Given the description of an element on the screen output the (x, y) to click on. 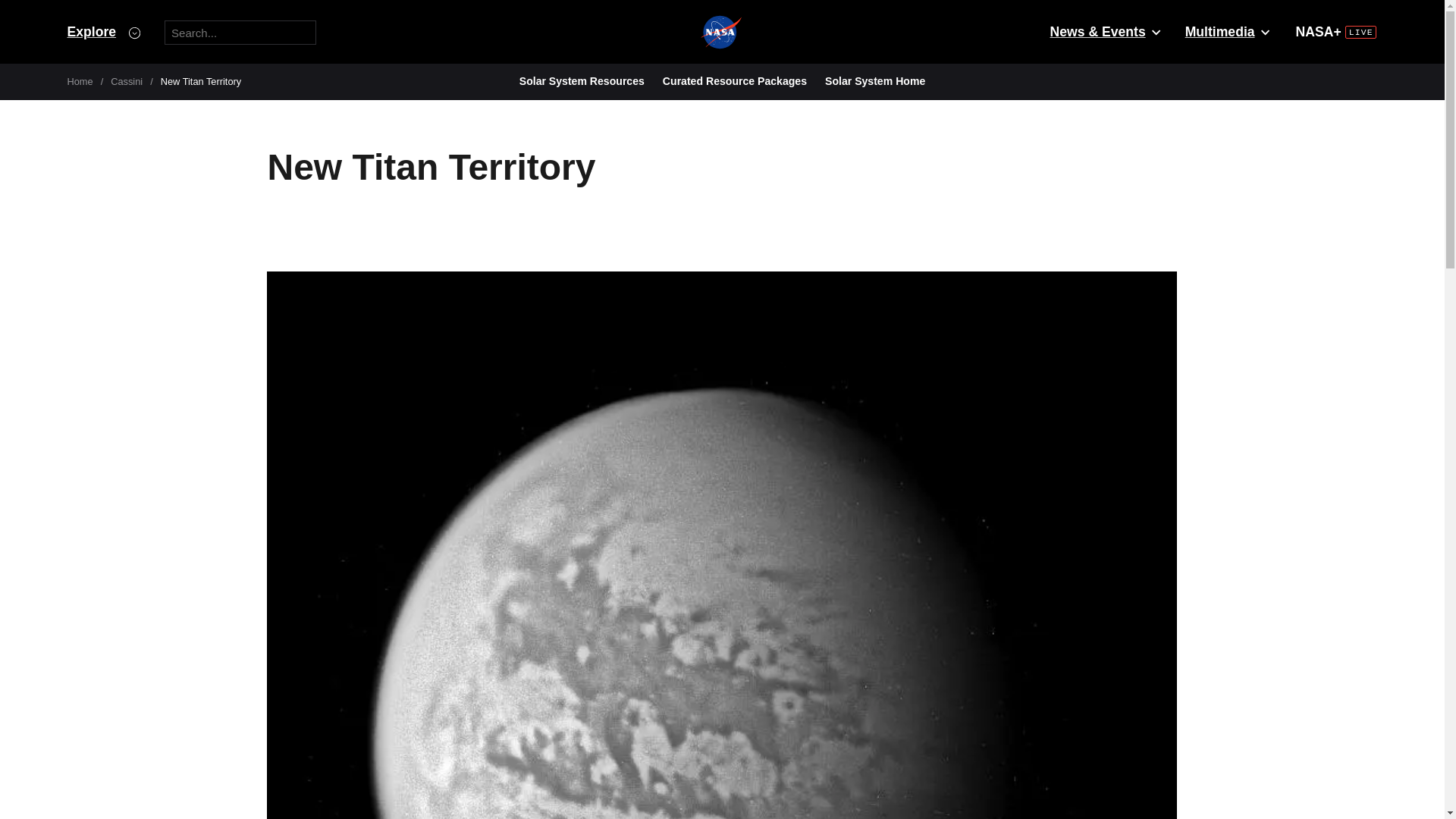
Cassini (126, 81)
Home (79, 81)
